Given the description of an element on the screen output the (x, y) to click on. 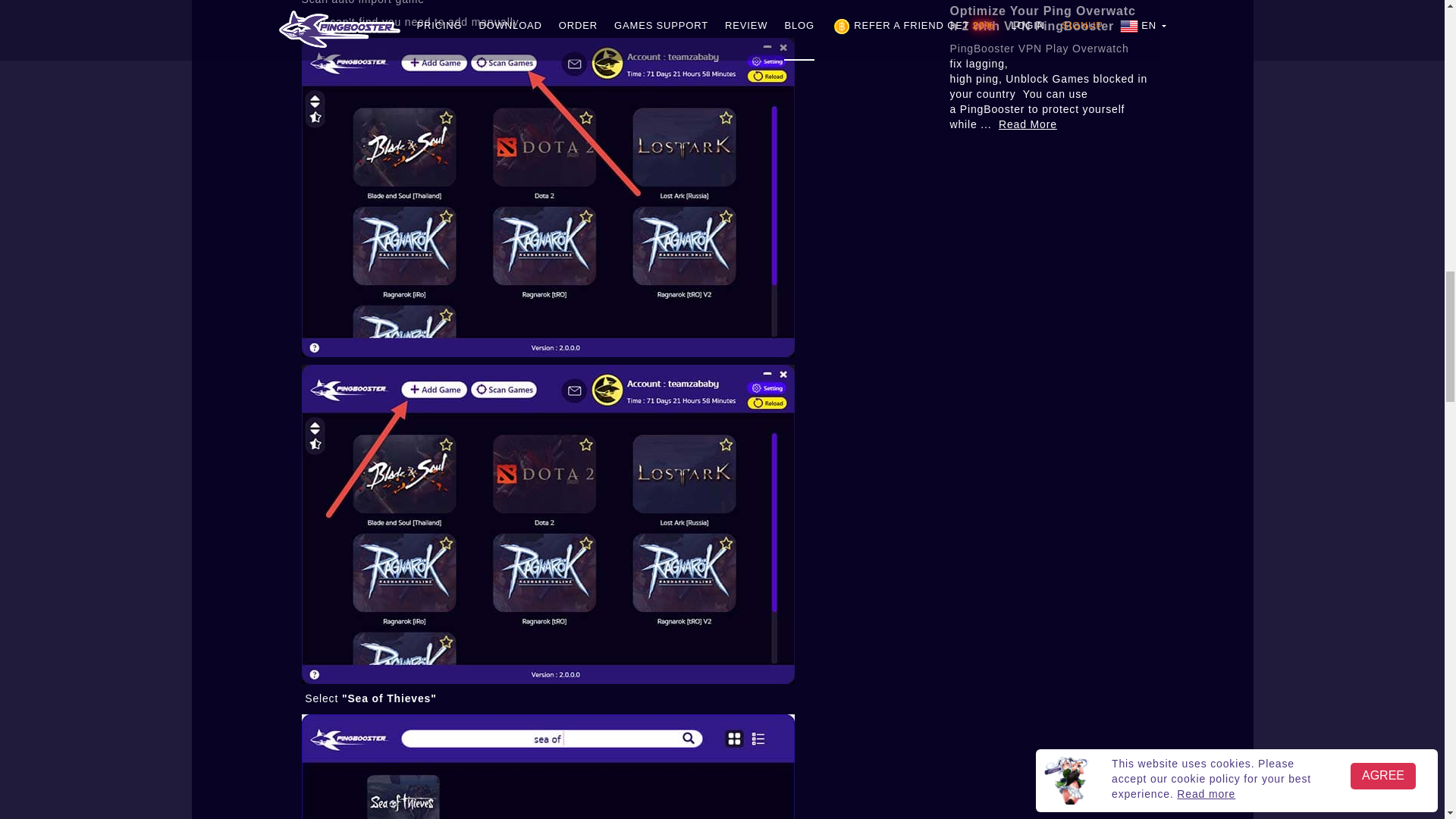
Optimize Your Ping Overwatch 2 with VPN PingBooster (1042, 18)
Read More (1027, 123)
Optimize Your Ping Overwatch 2 with VPN PingBooster (1042, 18)
